Given the description of an element on the screen output the (x, y) to click on. 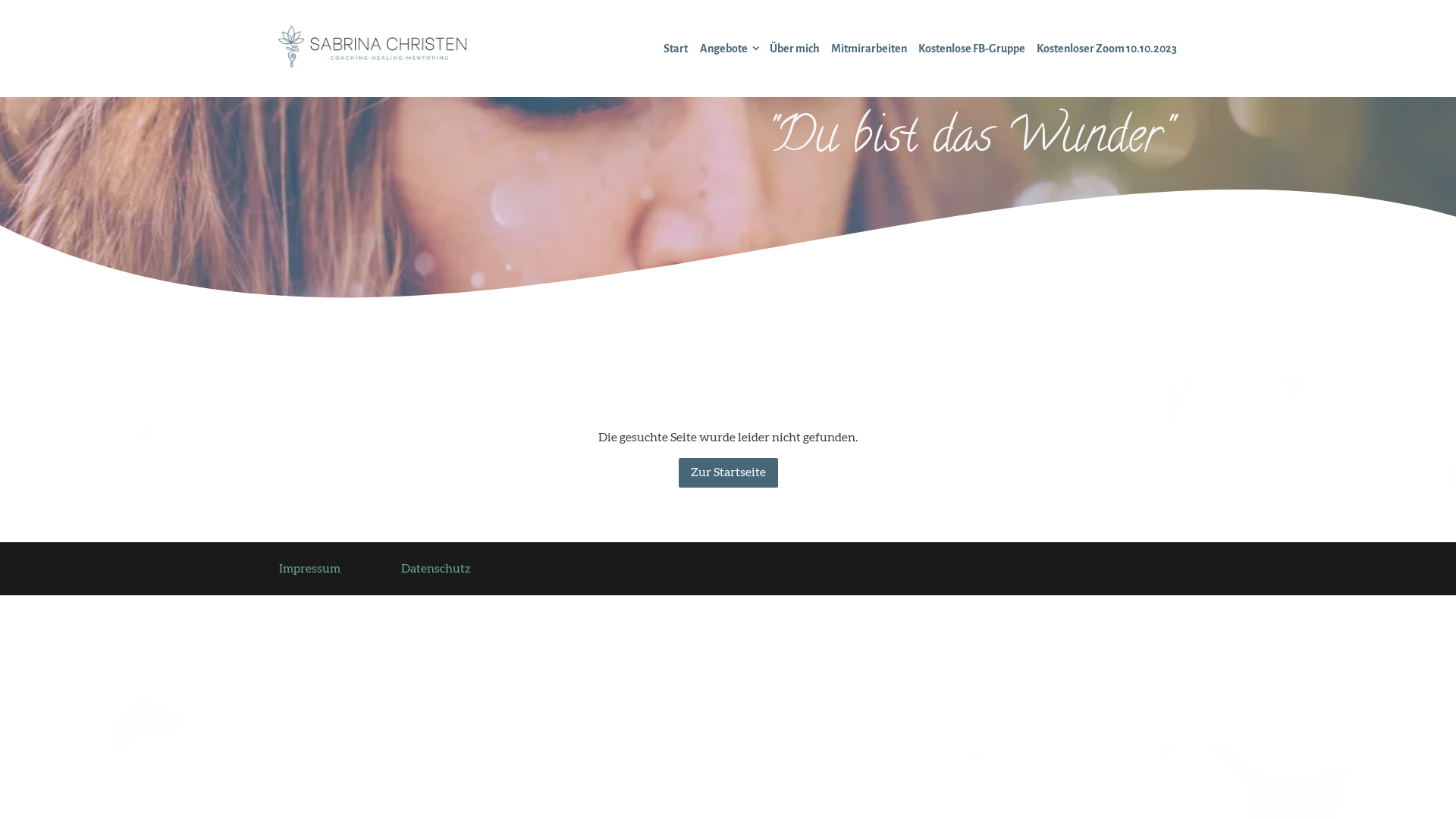
Start Element type: text (675, 48)
Kostenloser Zoom 10.10.2023 Element type: text (1106, 48)
Impressum Element type: text (309, 568)
Datenschutz Element type: text (435, 568)
"Du bist das Wunder" Element type: text (967, 140)
Angebote Element type: text (722, 48)
Kostenlose FB-Gruppe Element type: text (971, 48)
Mitmirarbeiten Element type: text (868, 48)
Zur Startseite Element type: text (727, 472)
